Given the description of an element on the screen output the (x, y) to click on. 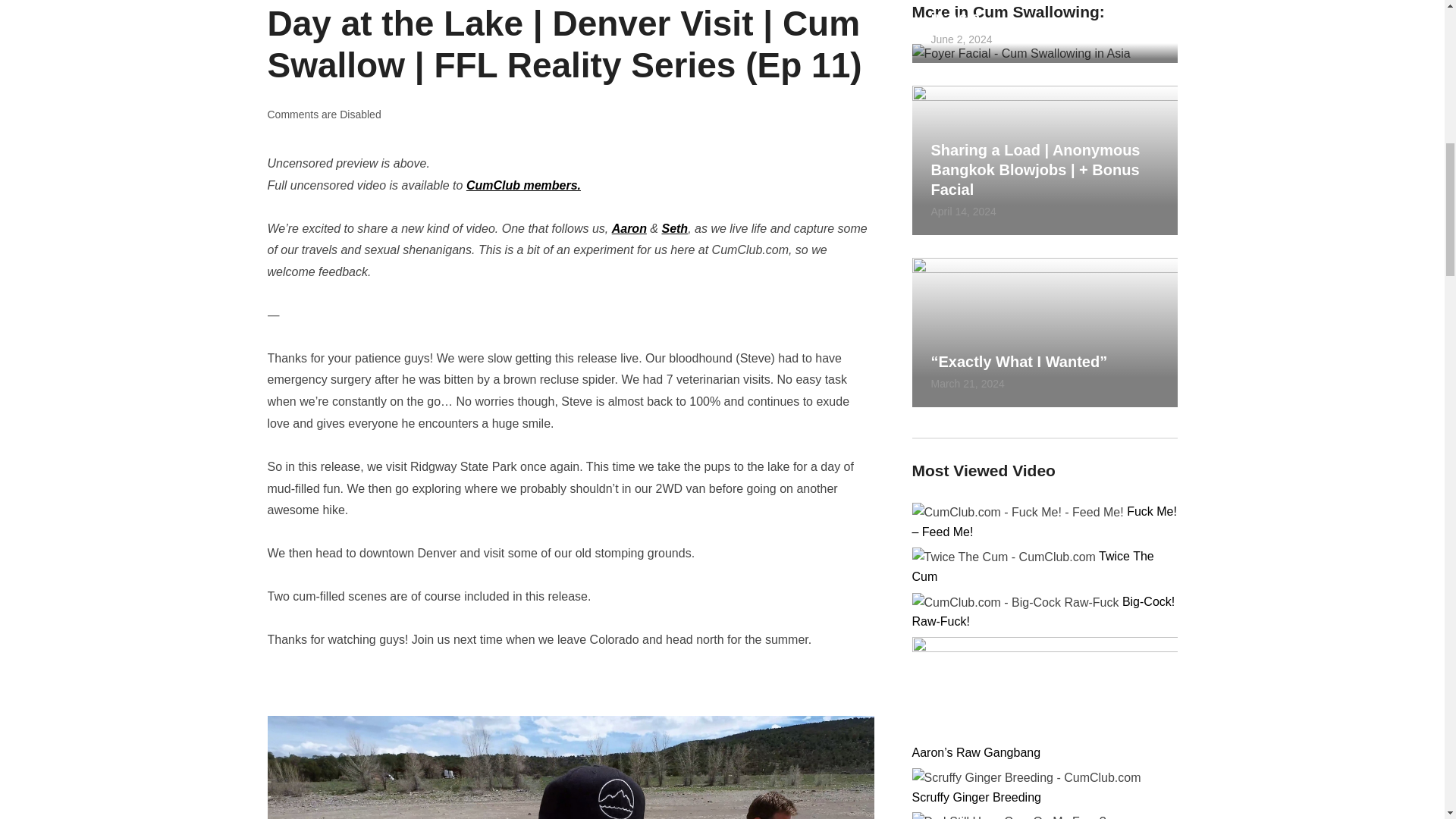
CumClub members. (522, 185)
Scruffy Ginger Breeding (976, 797)
Big-Cock! Raw-Fuck! (1042, 611)
Seth (674, 227)
Twice The Cum (1032, 566)
Aaron (628, 227)
